Given the description of an element on the screen output the (x, y) to click on. 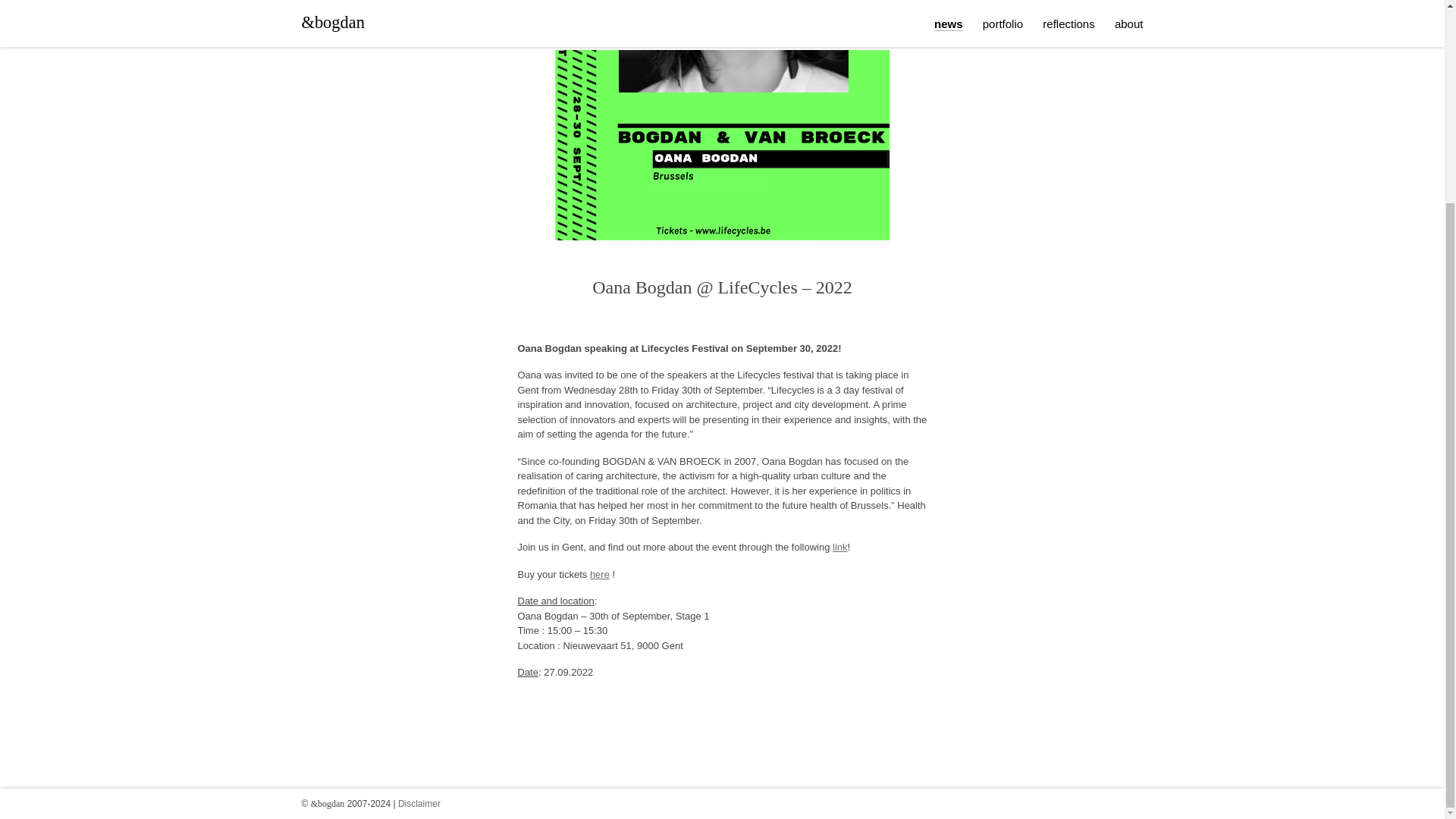
here (599, 573)
link (839, 546)
Disclaimer (419, 543)
